Given the description of an element on the screen output the (x, y) to click on. 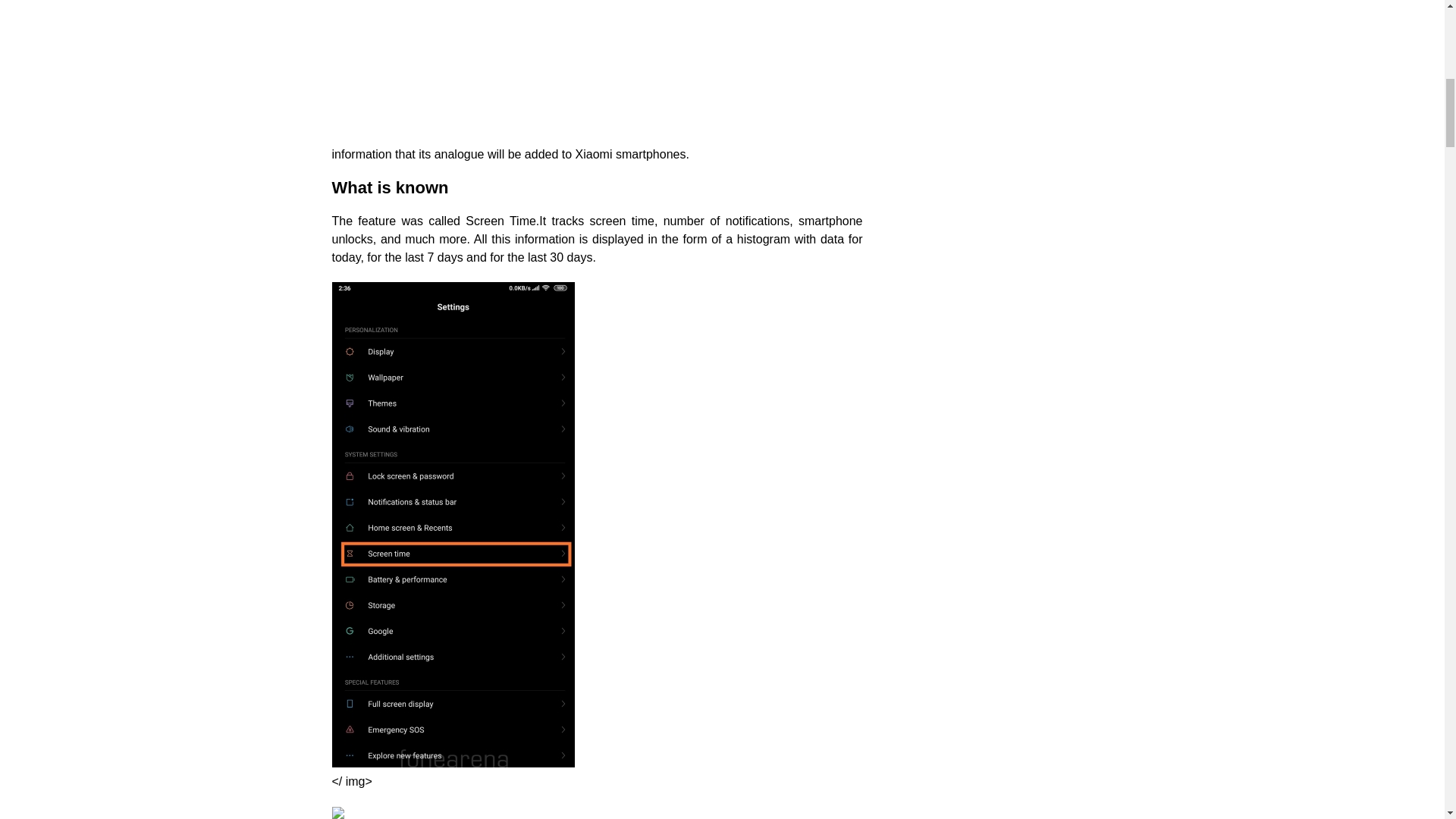
Advertisement (597, 72)
